Given the description of an element on the screen output the (x, y) to click on. 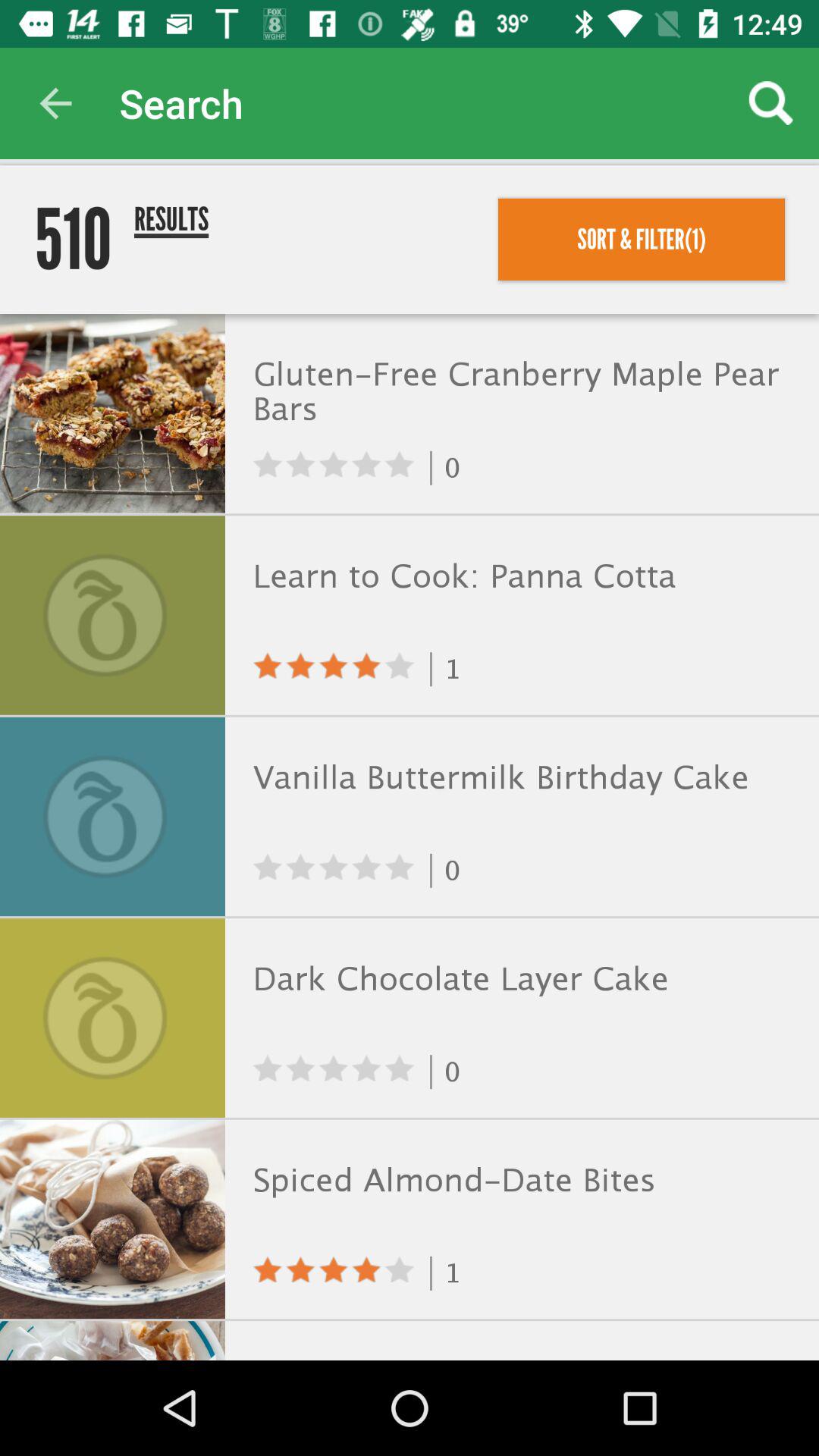
choose the icon above the gluten free cranberry item (641, 239)
